Given the description of an element on the screen output the (x, y) to click on. 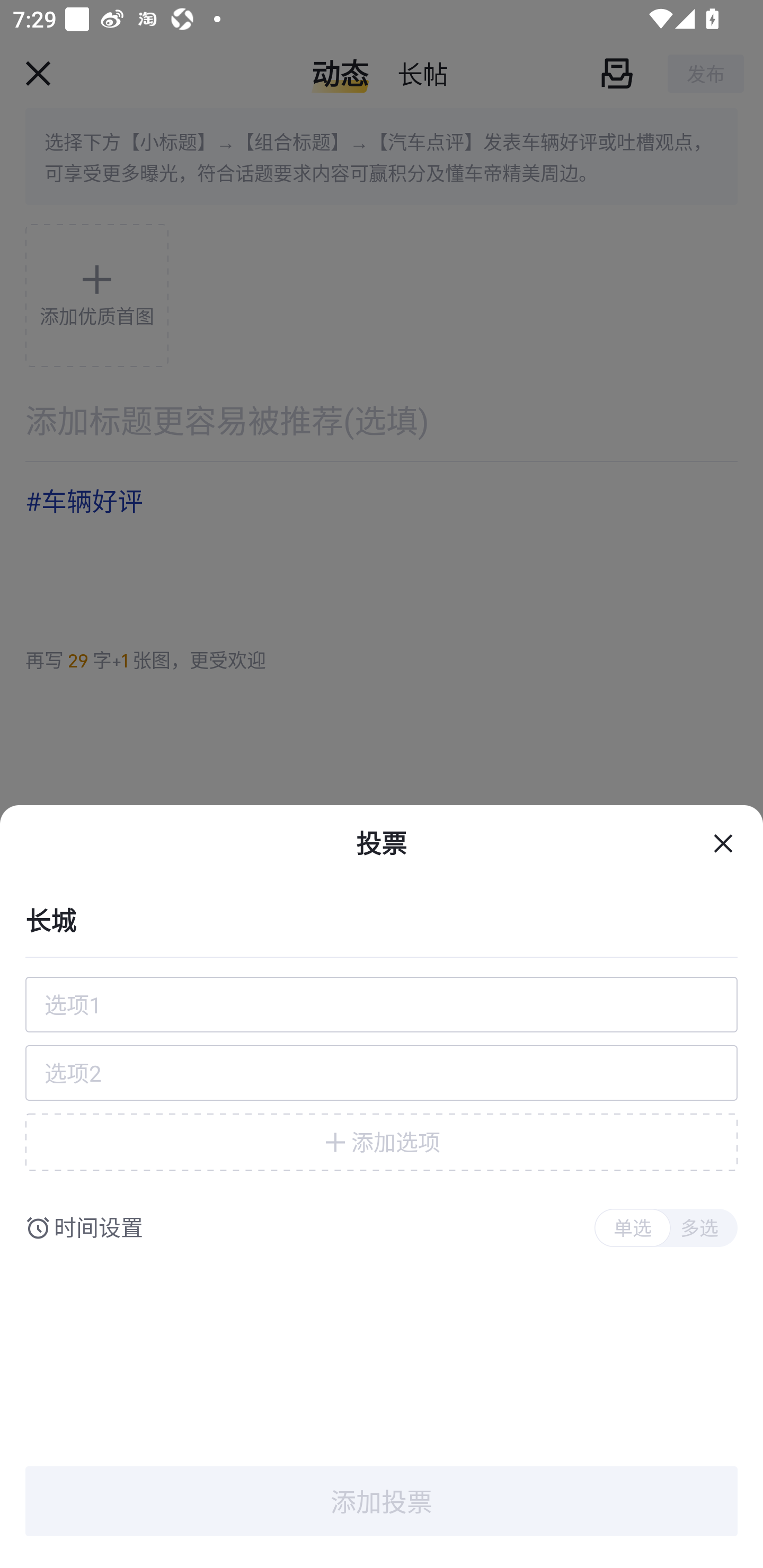
长城 (381, 918)
选项1 (381, 1003)
选项2 (381, 1072)
添加选项 (381, 1142)
单选 (632, 1227)
多选 (699, 1227)
时间设置 (98, 1227)
